Given the description of an element on the screen output the (x, y) to click on. 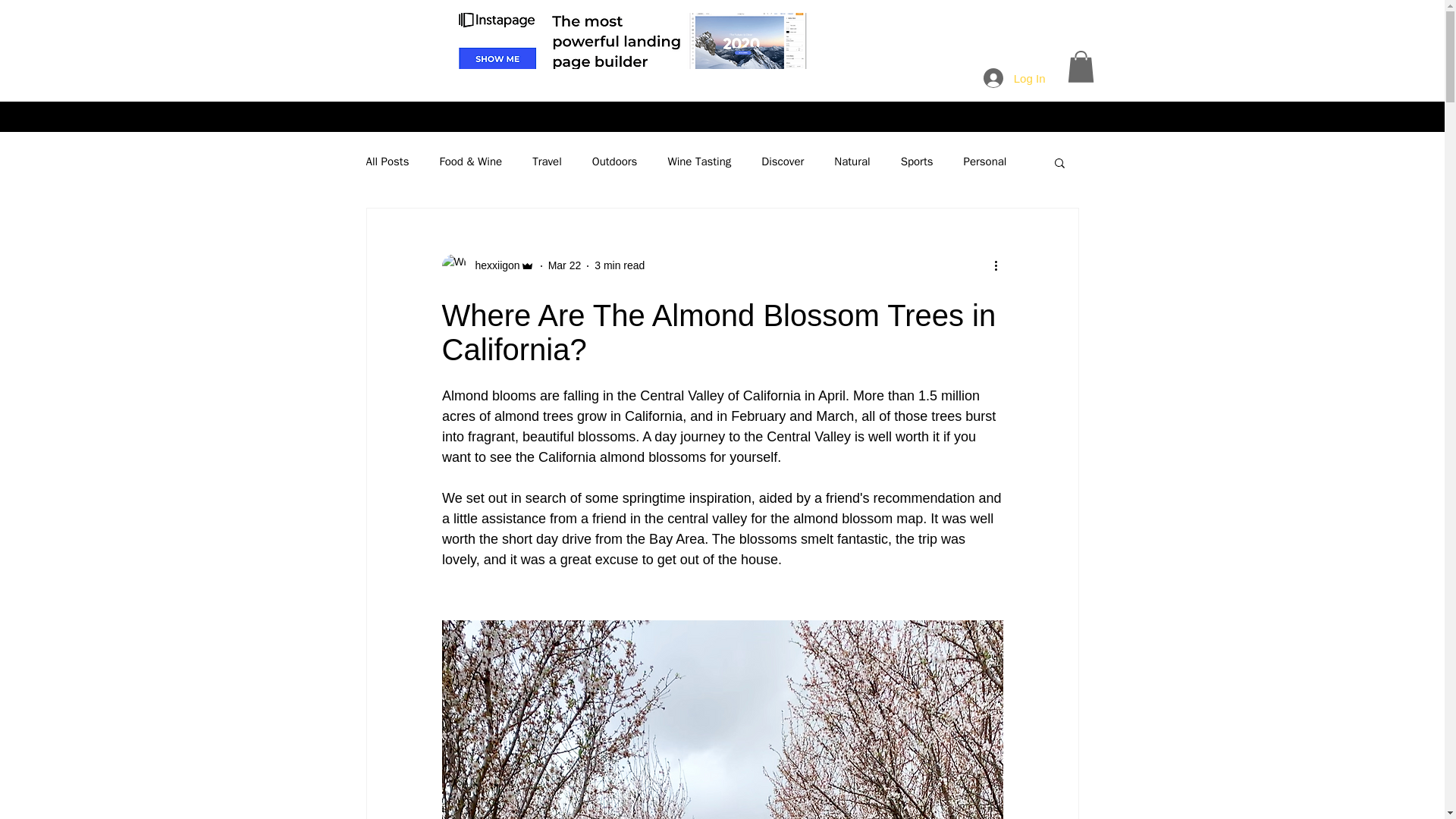
3 min read (619, 265)
Personal (984, 161)
All Posts (387, 161)
Natural (851, 161)
Outdoors (614, 161)
Wine Tasting (698, 161)
Log In (1014, 77)
Travel (547, 161)
hexxiigon (487, 265)
Mar 22 (564, 265)
Sports (917, 161)
Discover (782, 161)
Drones on Sale  (629, 40)
hexxiigon (492, 265)
